Given the description of an element on the screen output the (x, y) to click on. 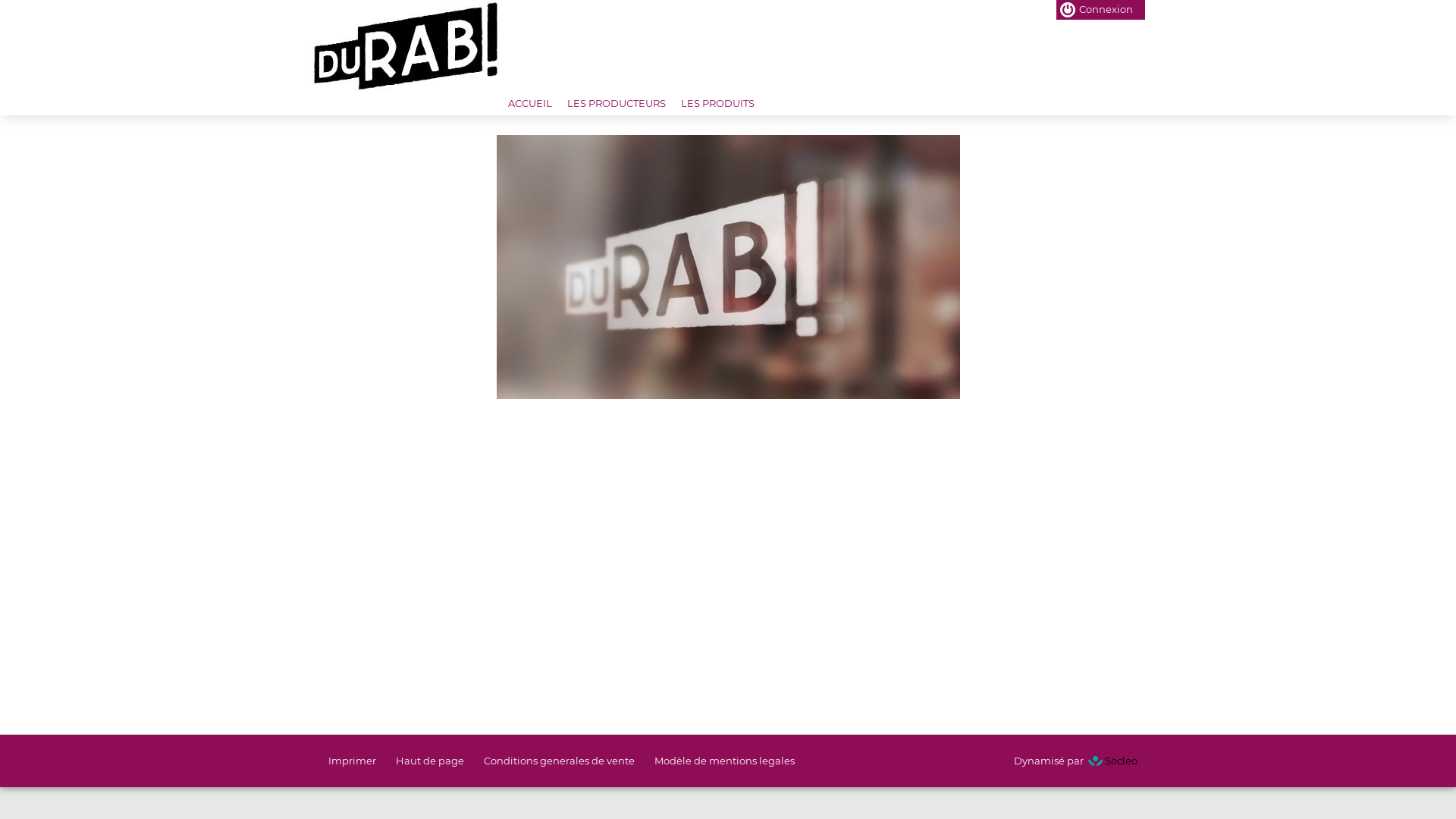
Haut de page Element type: text (429, 760)
LES PRODUITS Element type: text (717, 103)
Conditions generales de vente Element type: text (558, 760)
Imprimer Element type: text (352, 760)
LES PRODUCTEURS Element type: text (616, 103)
Connexion Element type: text (1096, 9)
Socleo Element type: text (1111, 760)
ACCUEIL Element type: text (529, 103)
